Given the description of an element on the screen output the (x, y) to click on. 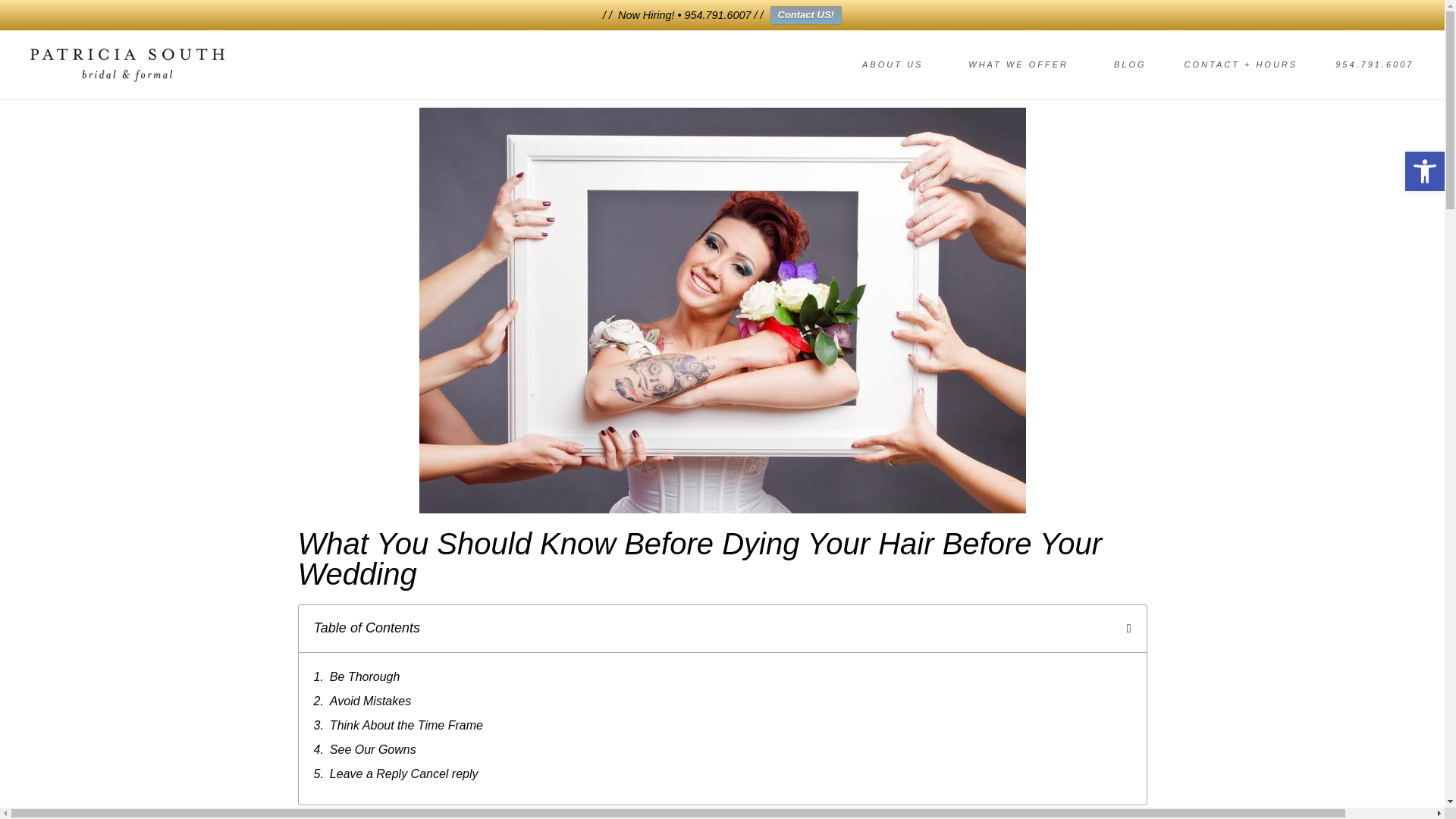
WHAT WE OFFER (1021, 64)
BLOG (1424, 170)
Contact US! (1130, 64)
Accessibility Tools (805, 14)
ABOUT US (1424, 170)
Accessibility Tools (895, 64)
954.791.6007 (1424, 170)
